Given the description of an element on the screen output the (x, y) to click on. 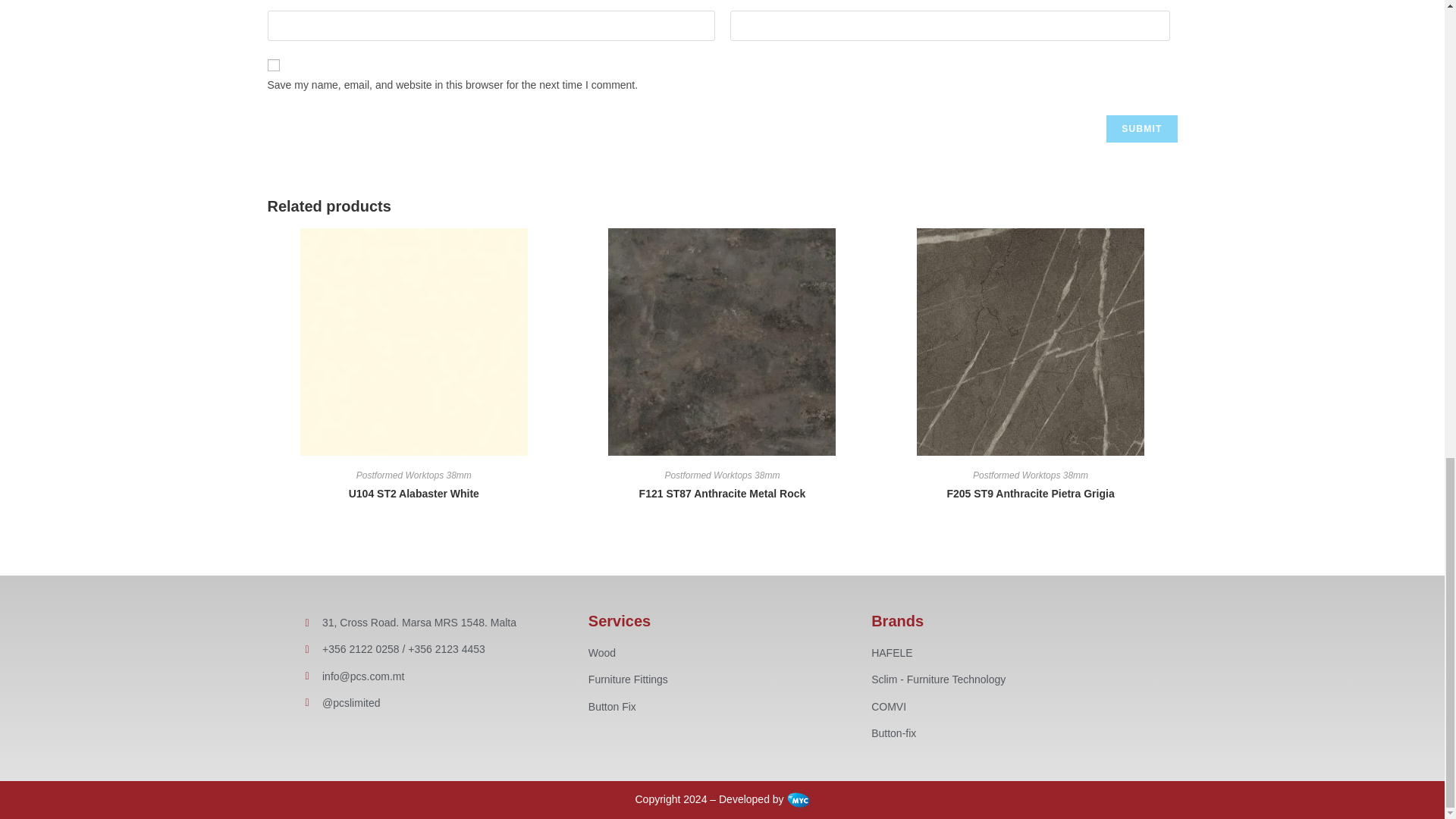
Submit (1141, 128)
Postformed Worktops 38mm (720, 475)
Postformed Worktops 38mm (413, 475)
Wood (722, 652)
Submit (1141, 128)
yes (272, 64)
Furniture Fittings (722, 679)
Postformed Worktops 38mm (1029, 475)
